Given the description of an element on the screen output the (x, y) to click on. 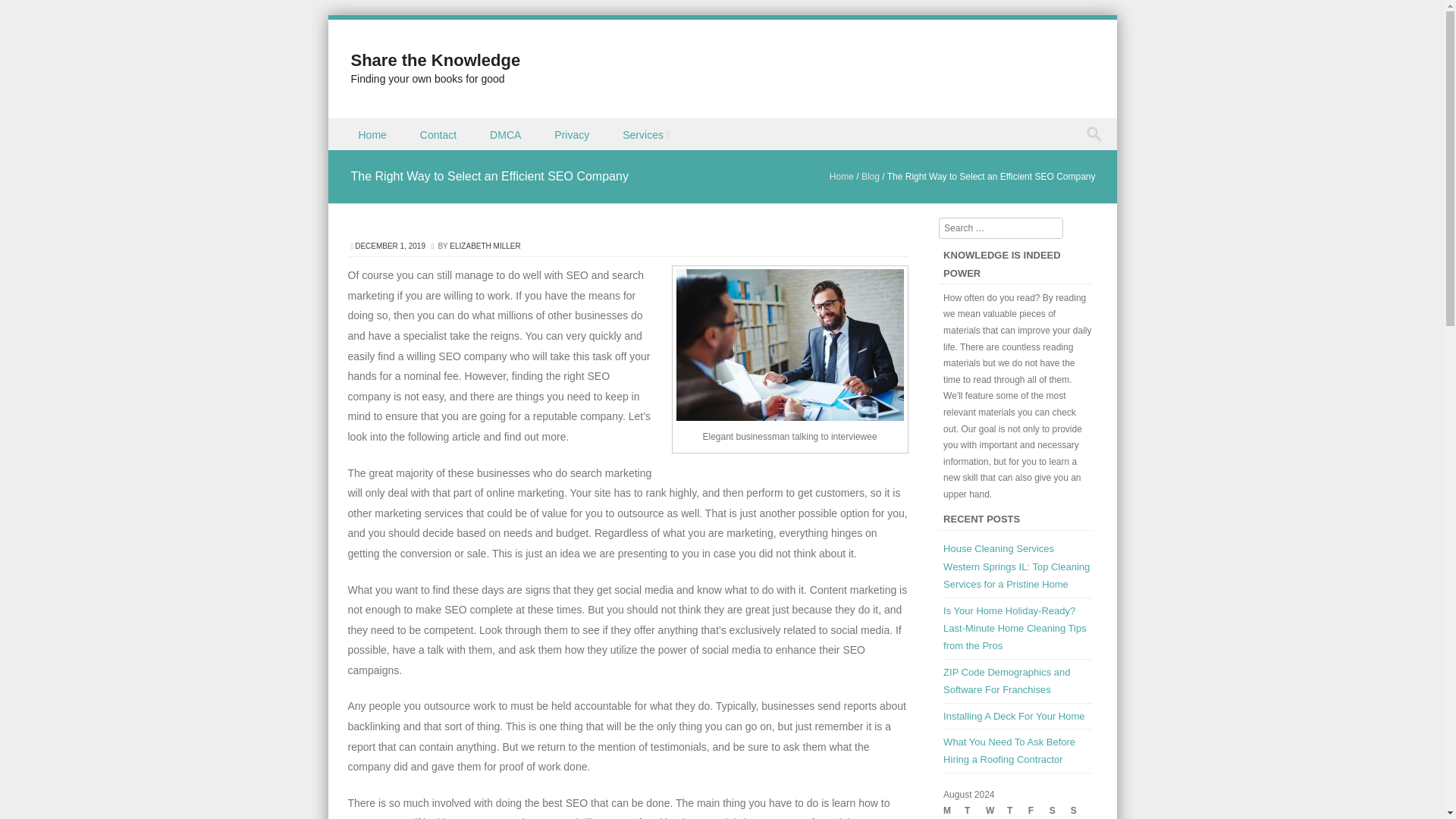
Monday (953, 811)
Search (26, 14)
DMCA (506, 133)
Thursday (1017, 811)
ZIP Code Demographics and Software For Franchises (1006, 680)
Contact (439, 133)
View all posts by Elizabeth Miller (484, 245)
ELIZABETH MILLER (484, 245)
Blog (870, 176)
What You Need To Ask Before Hiring a Roofing Contractor (1009, 750)
Share the Knowledge (434, 59)
Home (373, 133)
Tuesday (974, 811)
6:04 pm (390, 245)
Search for: (1097, 133)
